Given the description of an element on the screen output the (x, y) to click on. 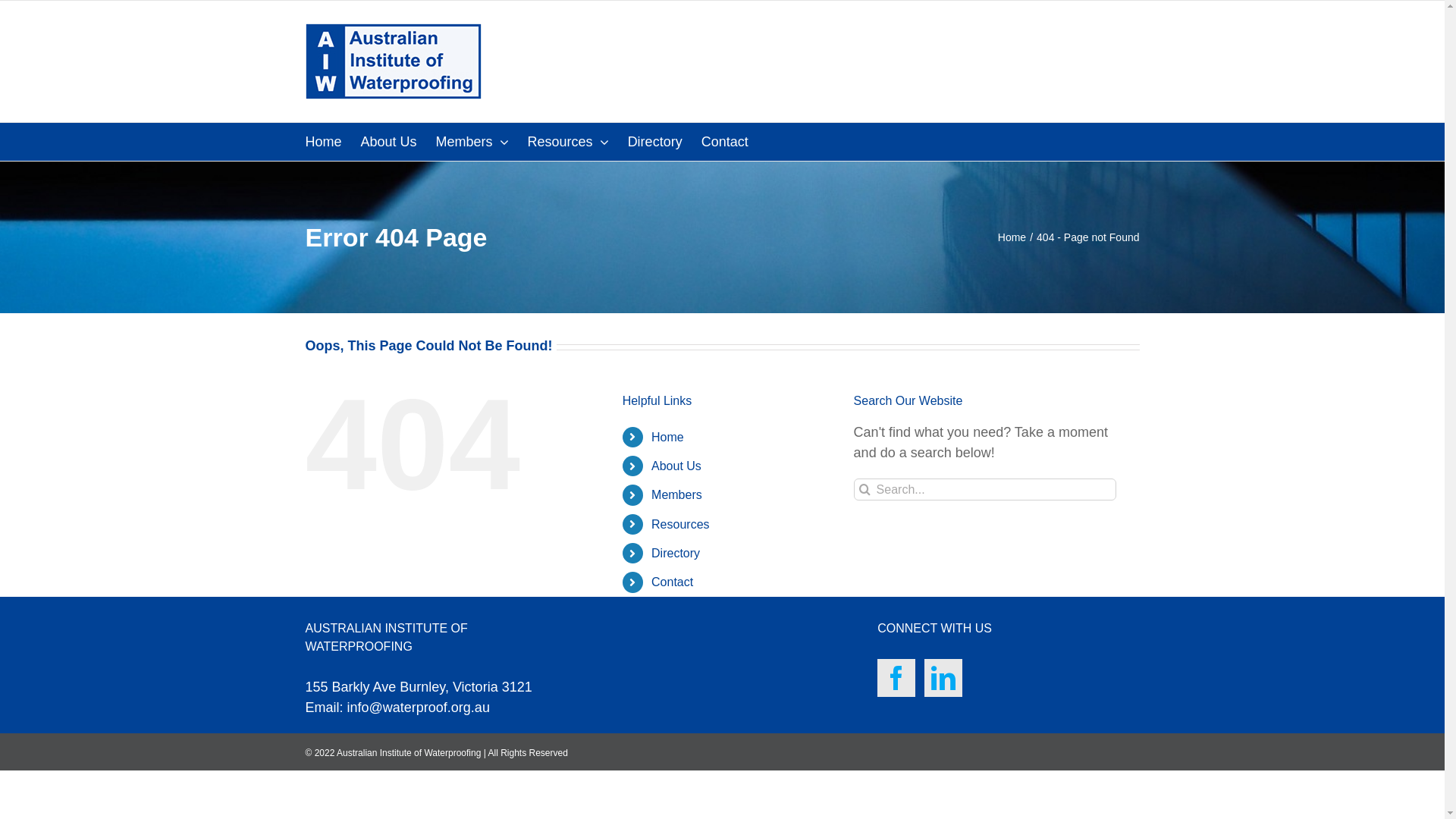
Directory Element type: text (654, 141)
About Us Element type: text (388, 141)
info@waterproof.org.au Element type: text (418, 707)
Resources Element type: text (567, 141)
About Us Element type: text (676, 465)
Home Element type: text (667, 436)
Home Element type: text (322, 141)
Directory Element type: text (675, 552)
Home Element type: text (1011, 236)
Members Element type: text (472, 141)
Contact Element type: text (672, 581)
Members Element type: text (676, 494)
Contact Element type: text (724, 141)
Resources Element type: text (680, 523)
